Given the description of an element on the screen output the (x, y) to click on. 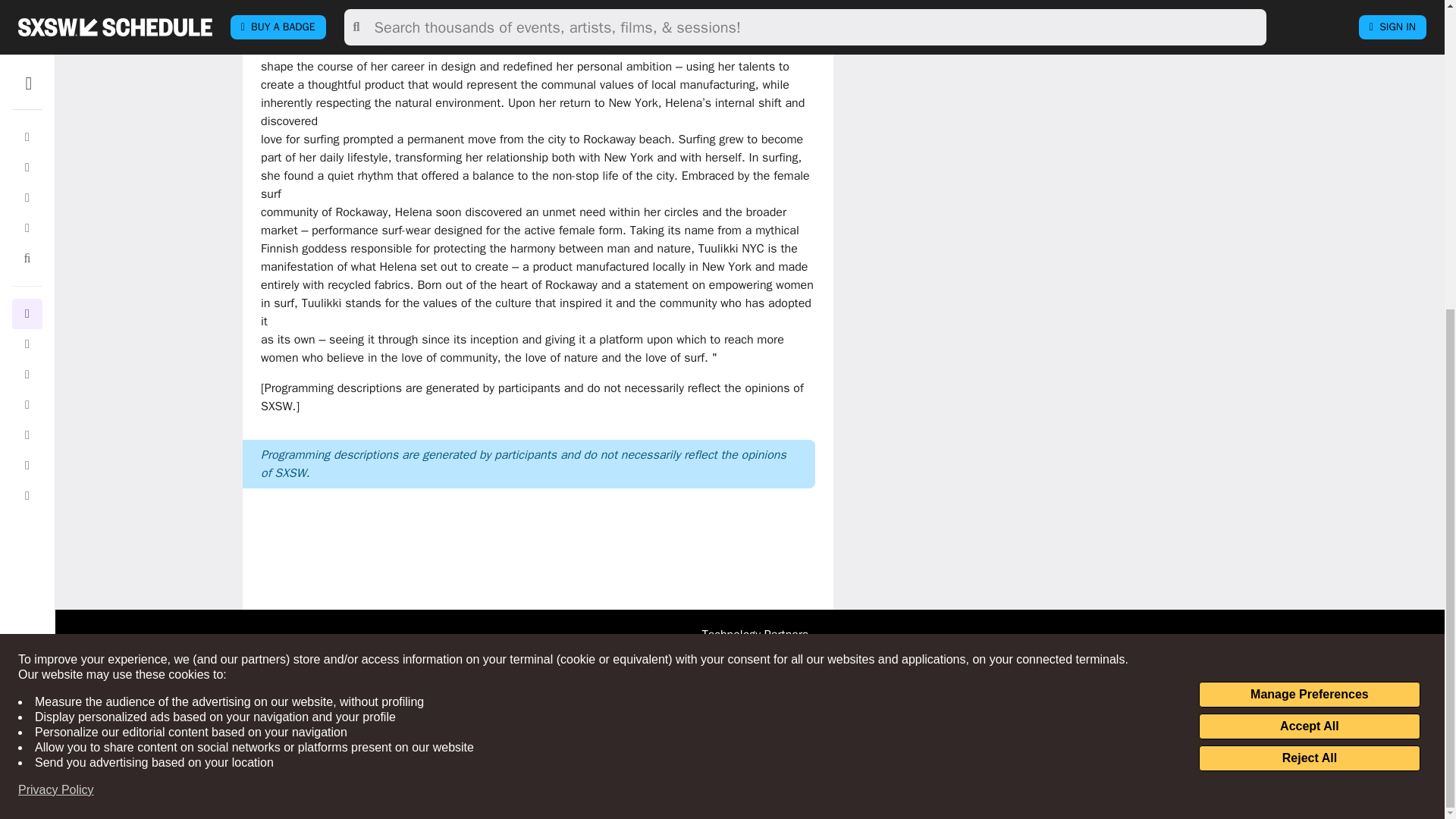
Manage Preferences (1309, 205)
Accept All (1309, 237)
Privacy Policy (55, 300)
Reject All (1309, 268)
